Given the description of an element on the screen output the (x, y) to click on. 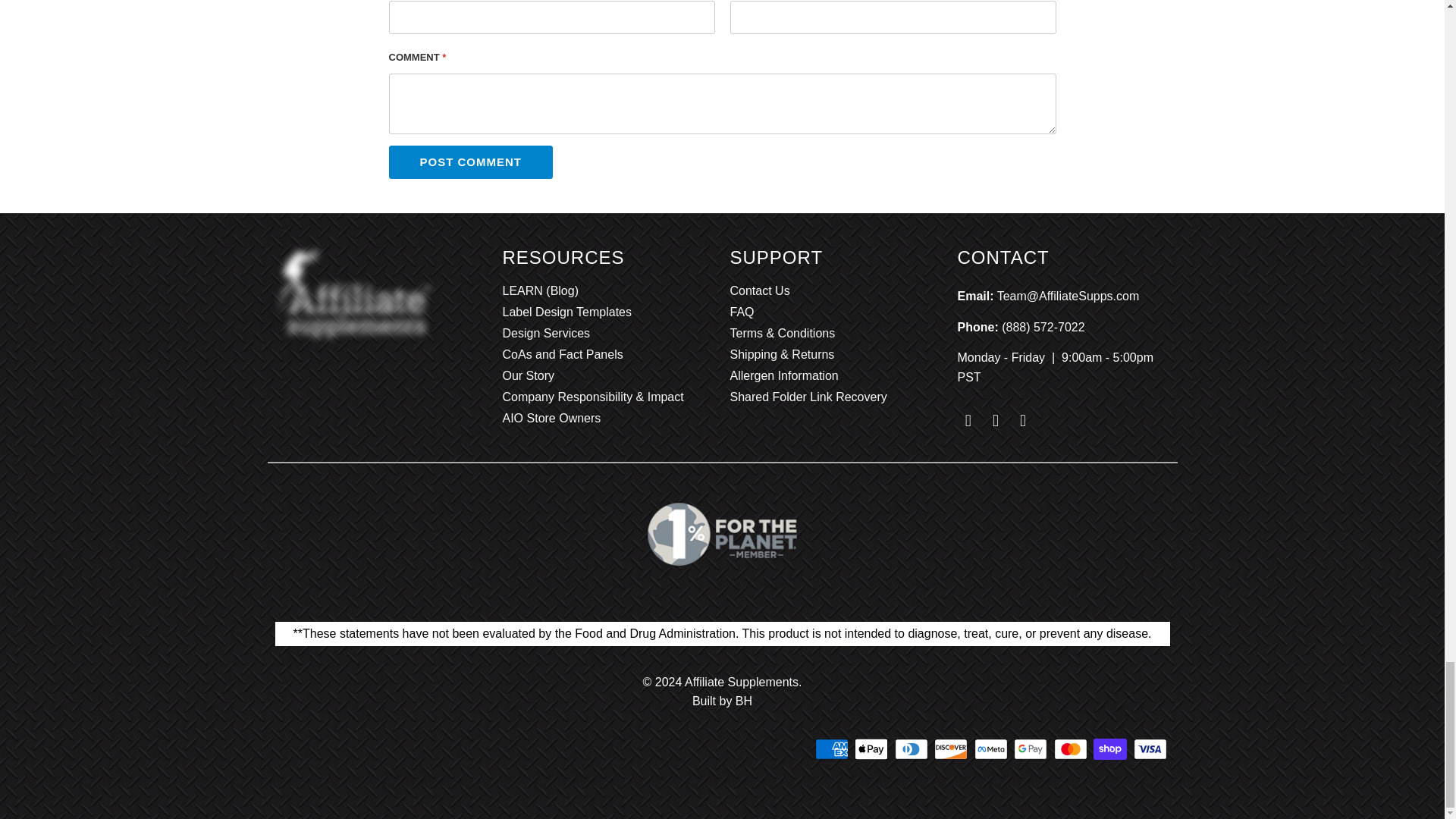
Mastercard (1072, 748)
Shop Pay (1111, 748)
American Express (833, 748)
Affiliate Supplements on Facebook (967, 420)
Google Pay (1031, 748)
Discover (952, 748)
Visa (1150, 748)
Diners Club (913, 748)
Apple Pay (872, 748)
Post comment (470, 162)
Meta Pay (992, 748)
